Given the description of an element on the screen output the (x, y) to click on. 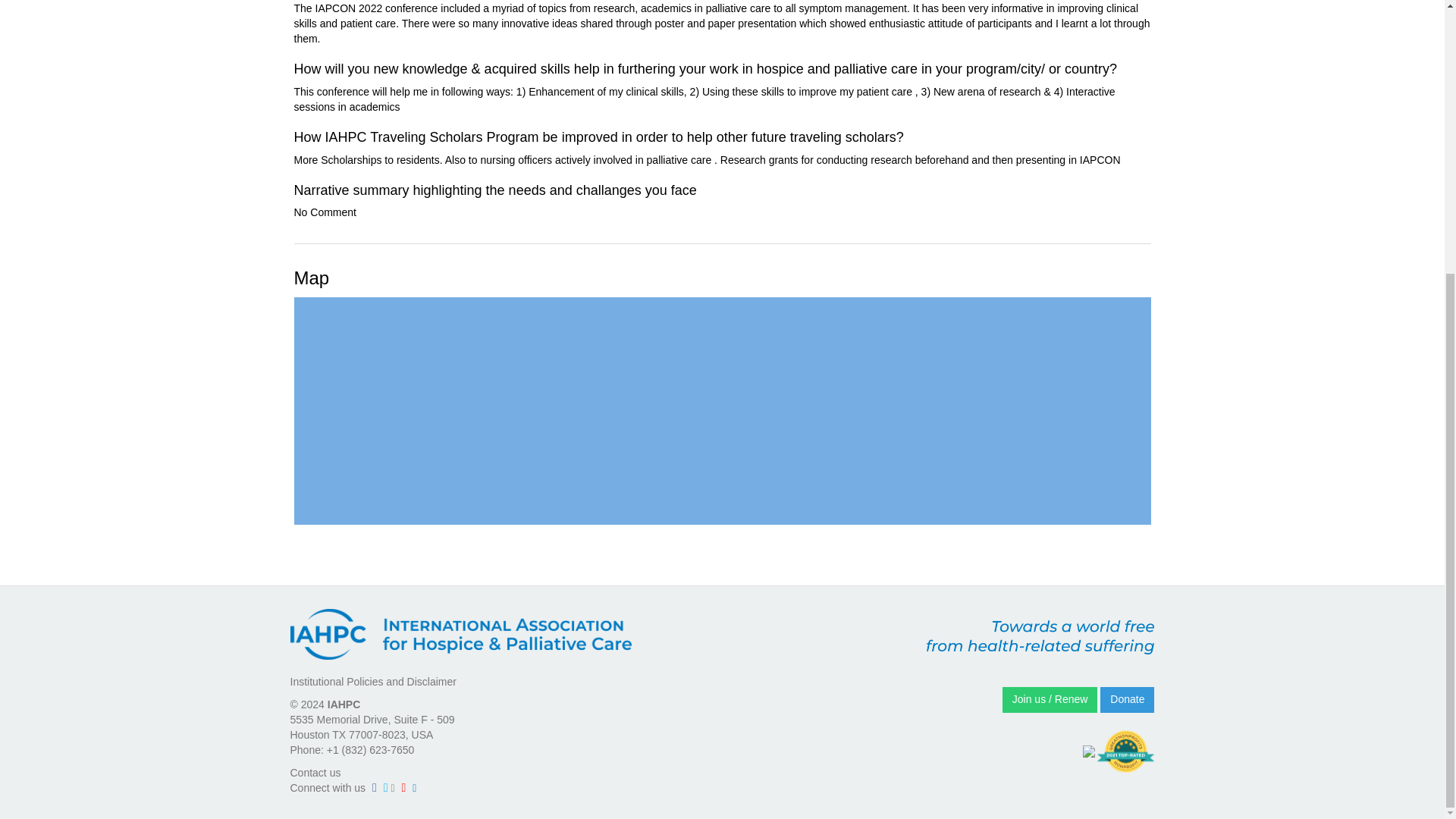
2021 Top-rated nonprofits and charities (1125, 751)
